Given the description of an element on the screen output the (x, y) to click on. 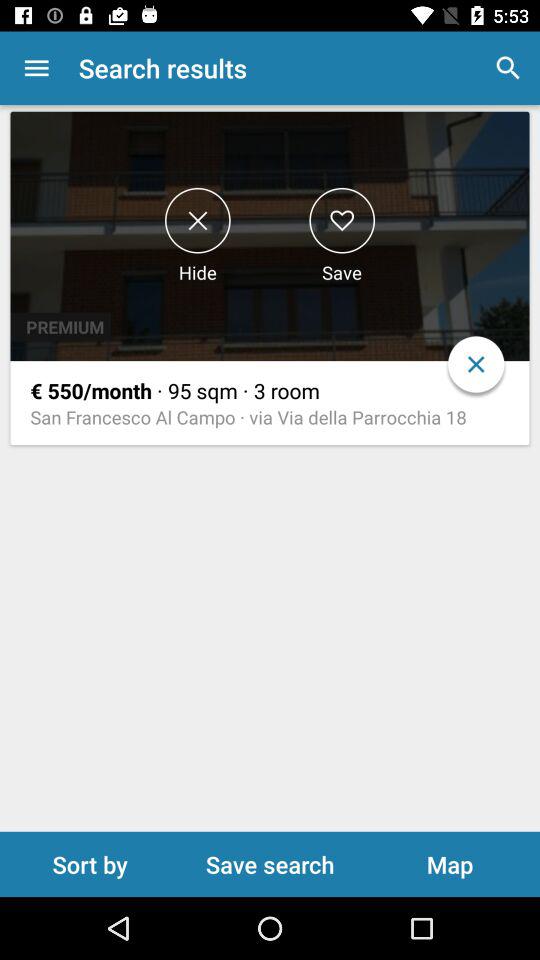
save button (342, 220)
